Given the description of an element on the screen output the (x, y) to click on. 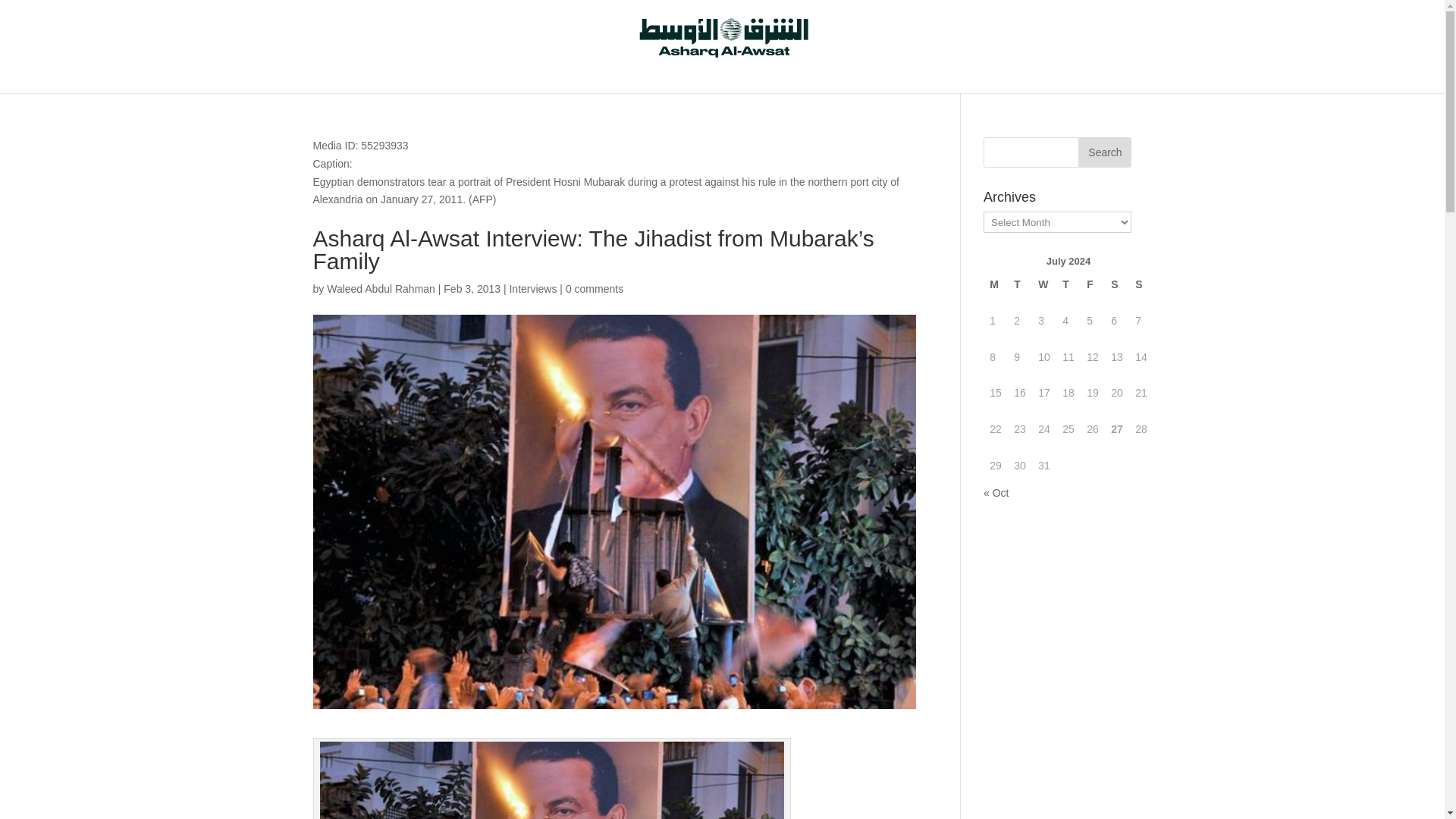
0 comments (594, 288)
Interviews (532, 288)
Search (1104, 152)
Posts by Waleed Abdul Rahman (380, 288)
Waleed Abdul Rahman (380, 288)
Search (1104, 152)
